Given the description of an element on the screen output the (x, y) to click on. 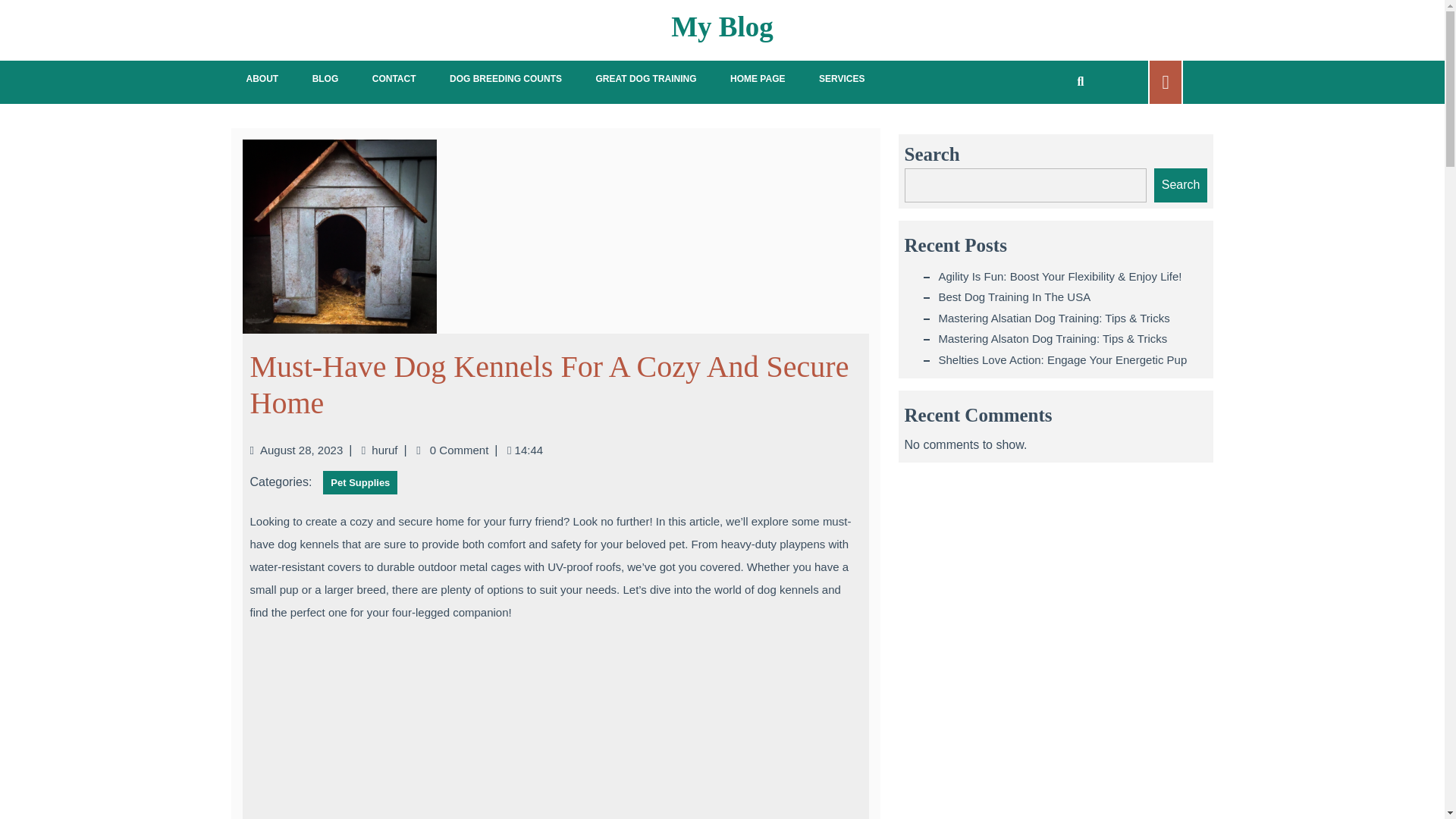
Best Dog Training In The USA (1014, 296)
DOG BREEDING COUNTS (504, 78)
Must-Have Dog Kennels For A Cozy And Secure Home (549, 383)
Shelties Love Action: Engage Your Energetic Pup (1063, 358)
BLOG (325, 78)
SERVICES (841, 78)
ABOUT (262, 78)
GREAT DOG TRAINING (645, 78)
August 28, 2023 (301, 449)
Search (1181, 185)
